Given the description of an element on the screen output the (x, y) to click on. 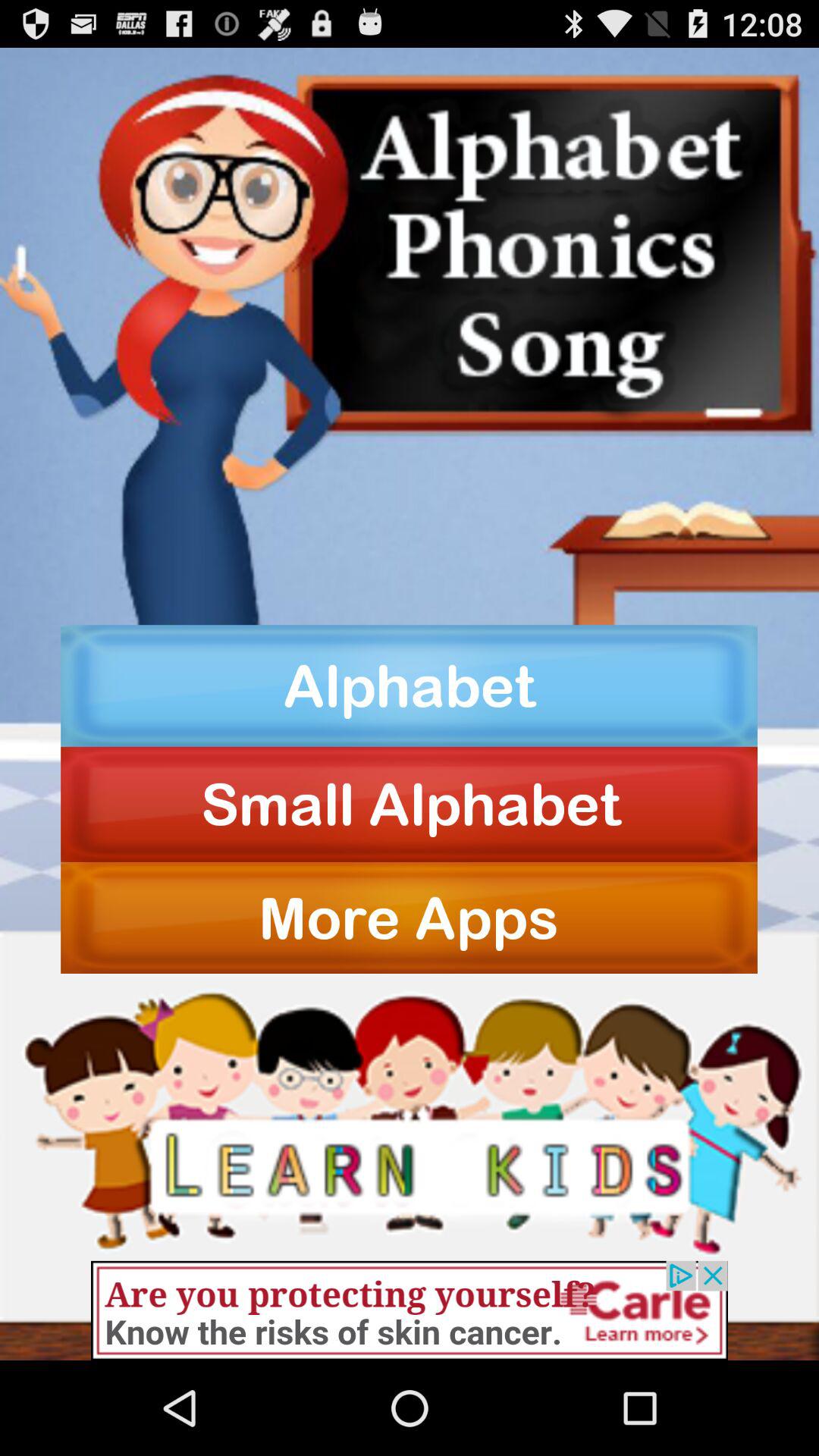
banner advertisement (409, 1310)
